Given the description of an element on the screen output the (x, y) to click on. 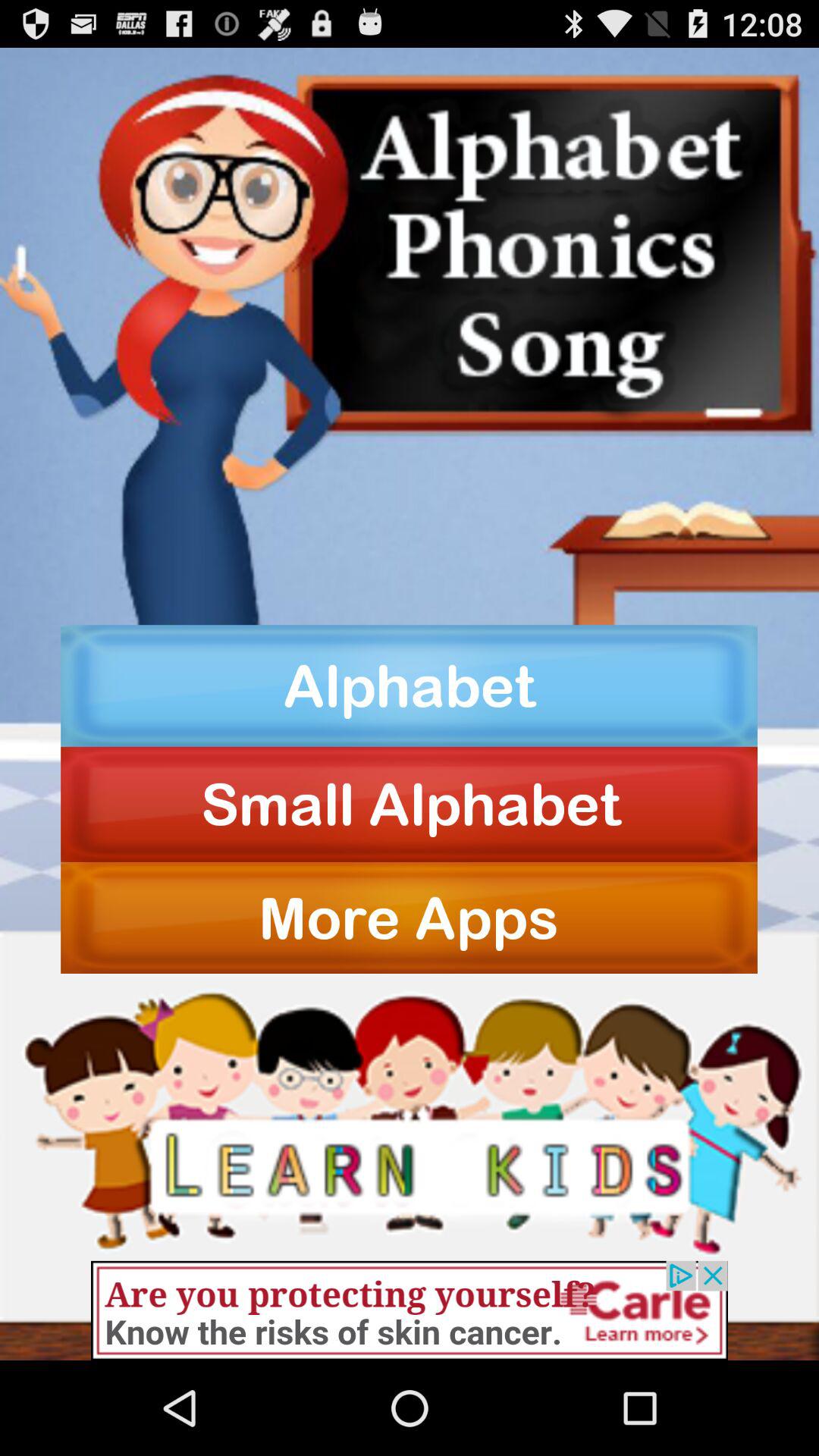
banner advertisement (409, 1310)
